Given the description of an element on the screen output the (x, y) to click on. 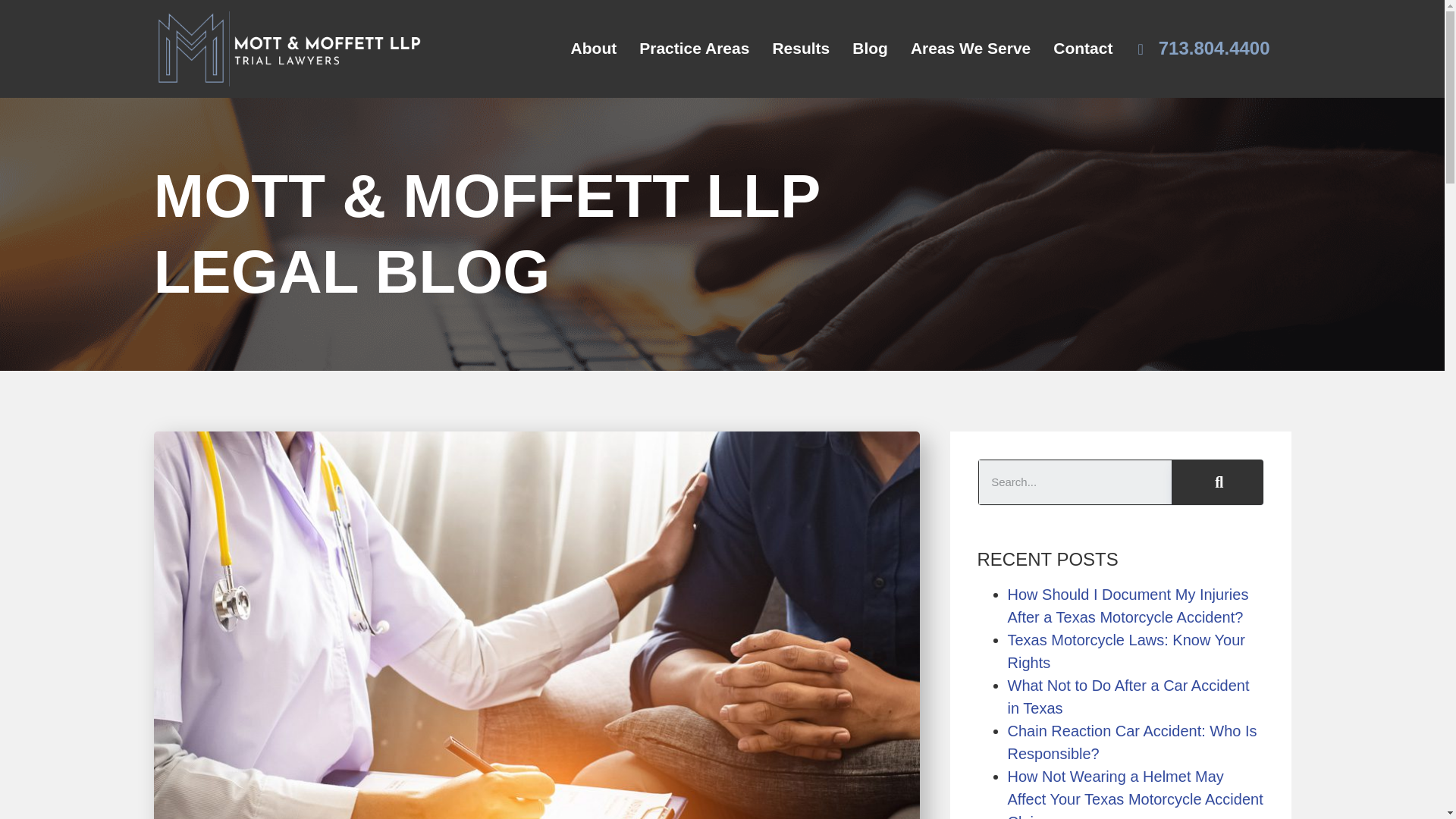
Blog (870, 48)
Results (800, 48)
Practice Areas (693, 48)
   713.804.4400 (1203, 47)
Search (1075, 482)
About (593, 48)
Areas We Serve (970, 48)
Search (1217, 482)
Contact (1083, 48)
